Given the description of an element on the screen output the (x, y) to click on. 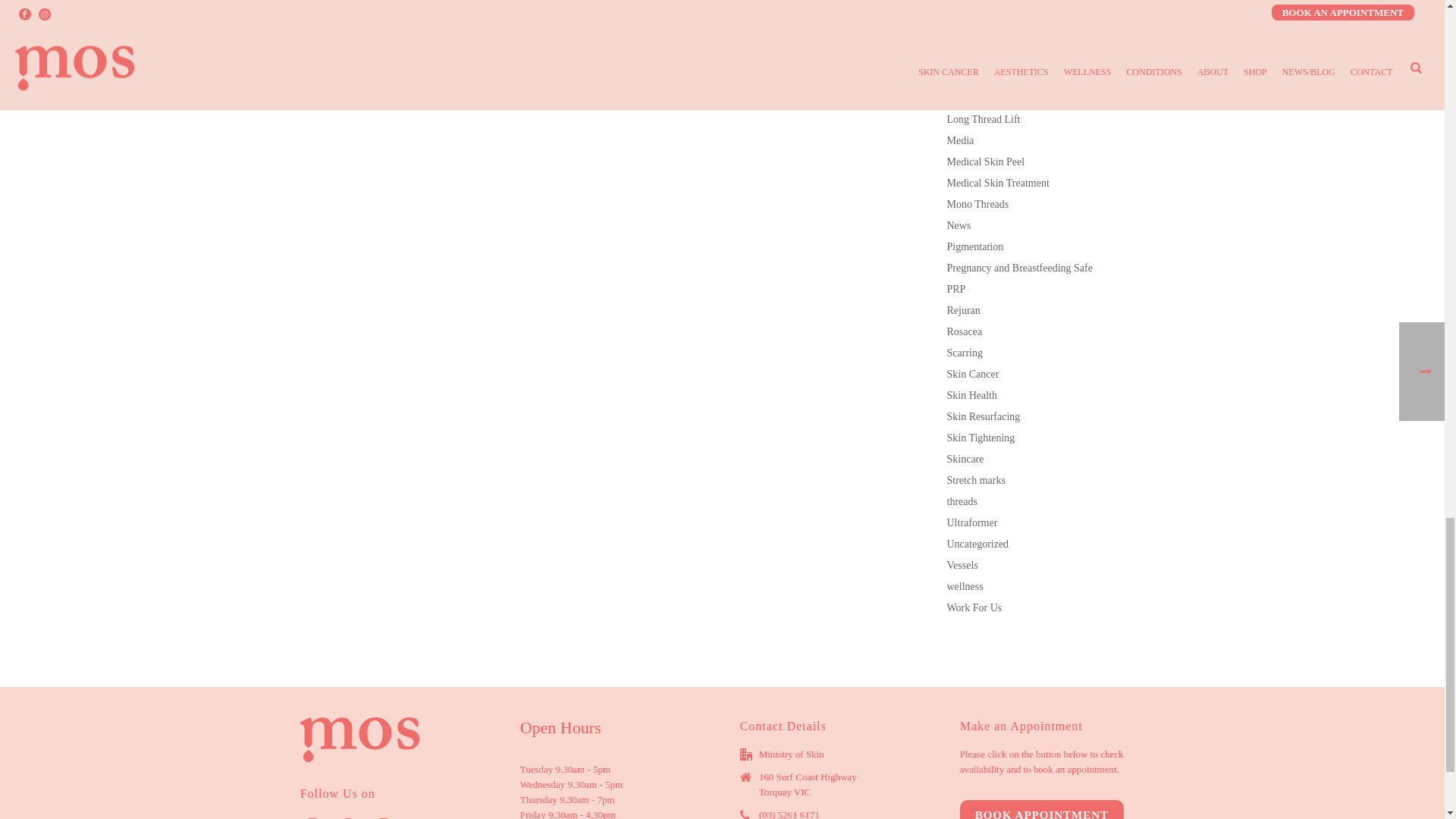
BOOK APPOINTMENT (1041, 809)
